Given the description of an element on the screen output the (x, y) to click on. 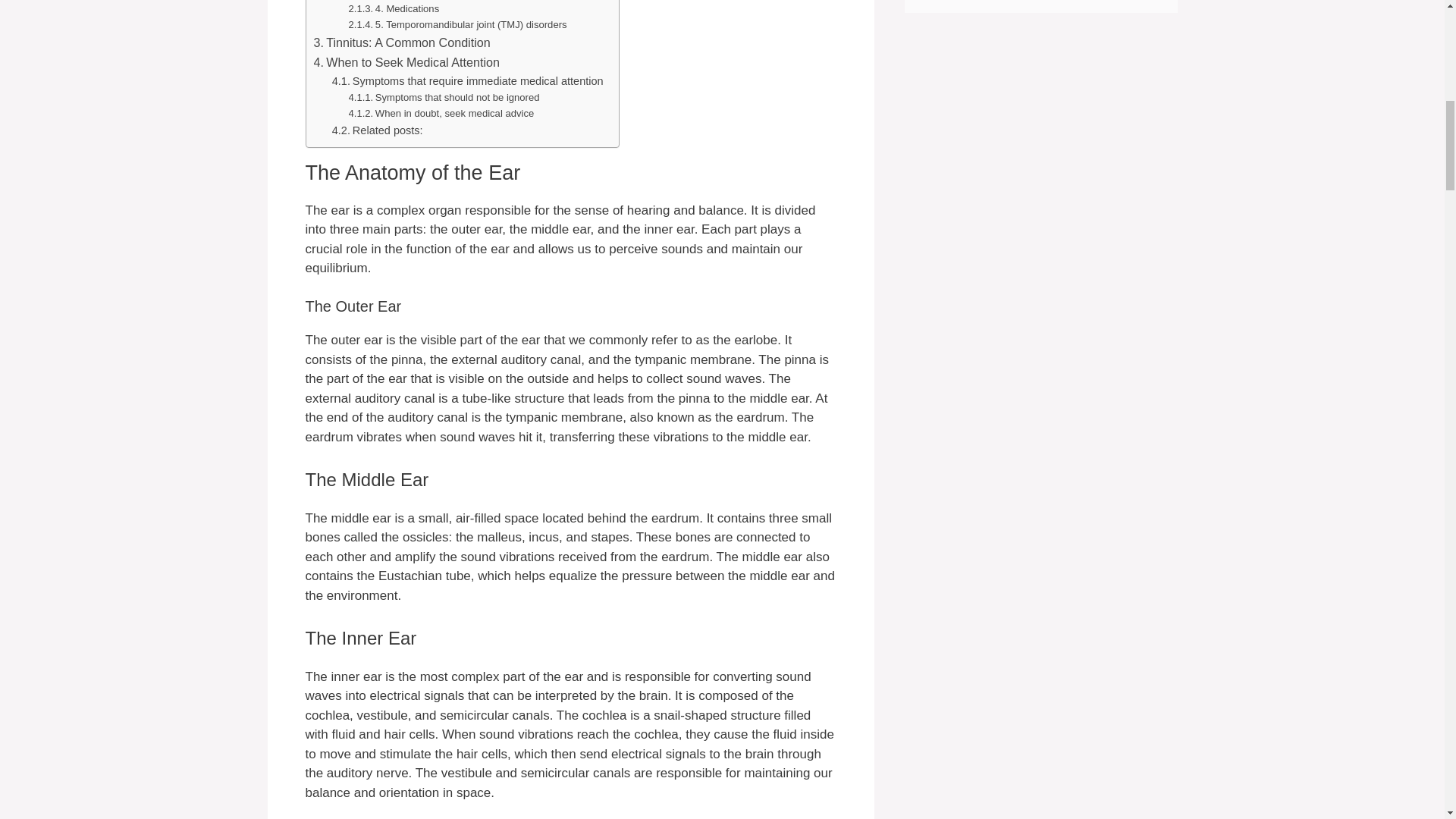
When in doubt, seek medical advice (441, 114)
4. Medications (394, 9)
Symptoms that should not be ignored (444, 98)
Symptoms that require immediate medical attention (467, 81)
When to Seek Medical Attention (407, 62)
3. Earwax buildup (401, 0)
3. Earwax buildup (401, 0)
Tinnitus: A Common Condition (402, 43)
Related posts: (377, 130)
4. Medications (394, 9)
